Given the description of an element on the screen output the (x, y) to click on. 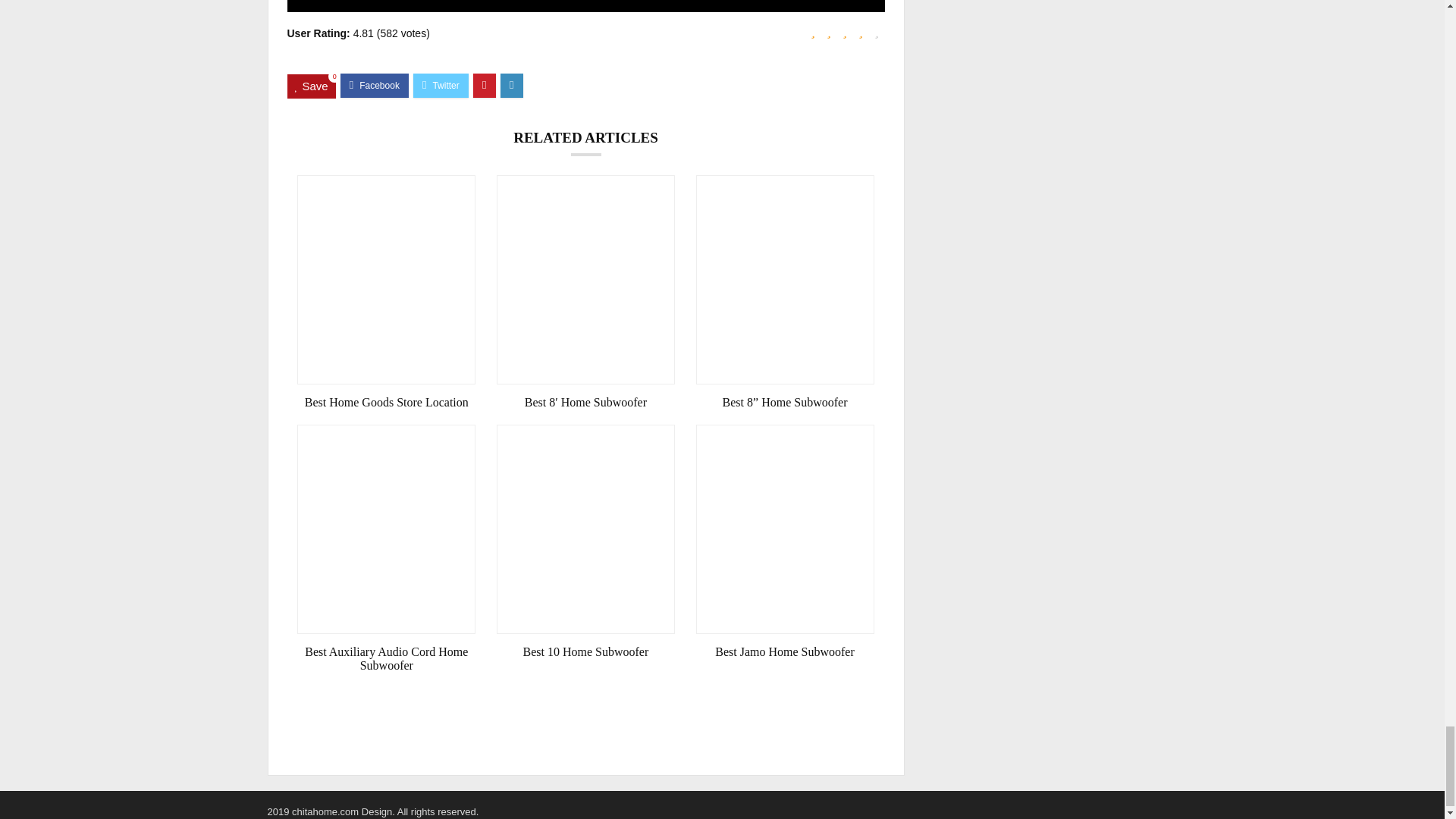
Best Jamo Home Subwoofer (785, 652)
Best Auxiliary Audio Cord Home Subwoofer (386, 658)
Best 10 Home Subwoofer (585, 652)
Best Home Goods Store Location (386, 402)
